Given the description of an element on the screen output the (x, y) to click on. 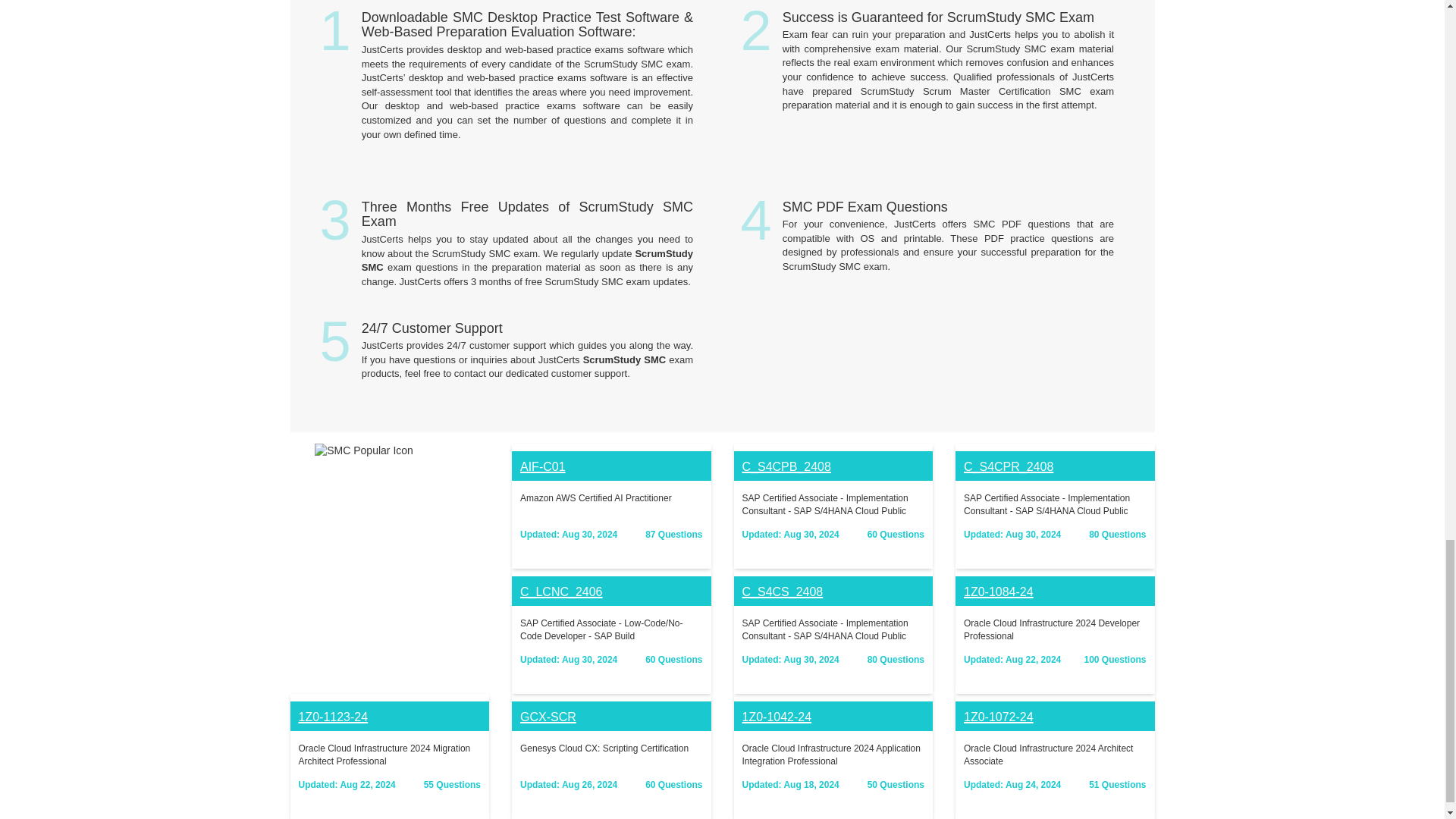
 Oracle 1Z0-1072-24 Exam (998, 716)
AIF-C01 (542, 466)
 Oracle 1Z0-1123-24 Exam (333, 716)
 Genesys GCX-SCR Exam (547, 716)
 Oracle 1Z0-1084-24 Exam (998, 591)
 Amazon AIF-C01 Exam (542, 466)
 Oracle 1Z0-1042-24 Exam (775, 716)
